Given the description of an element on the screen output the (x, y) to click on. 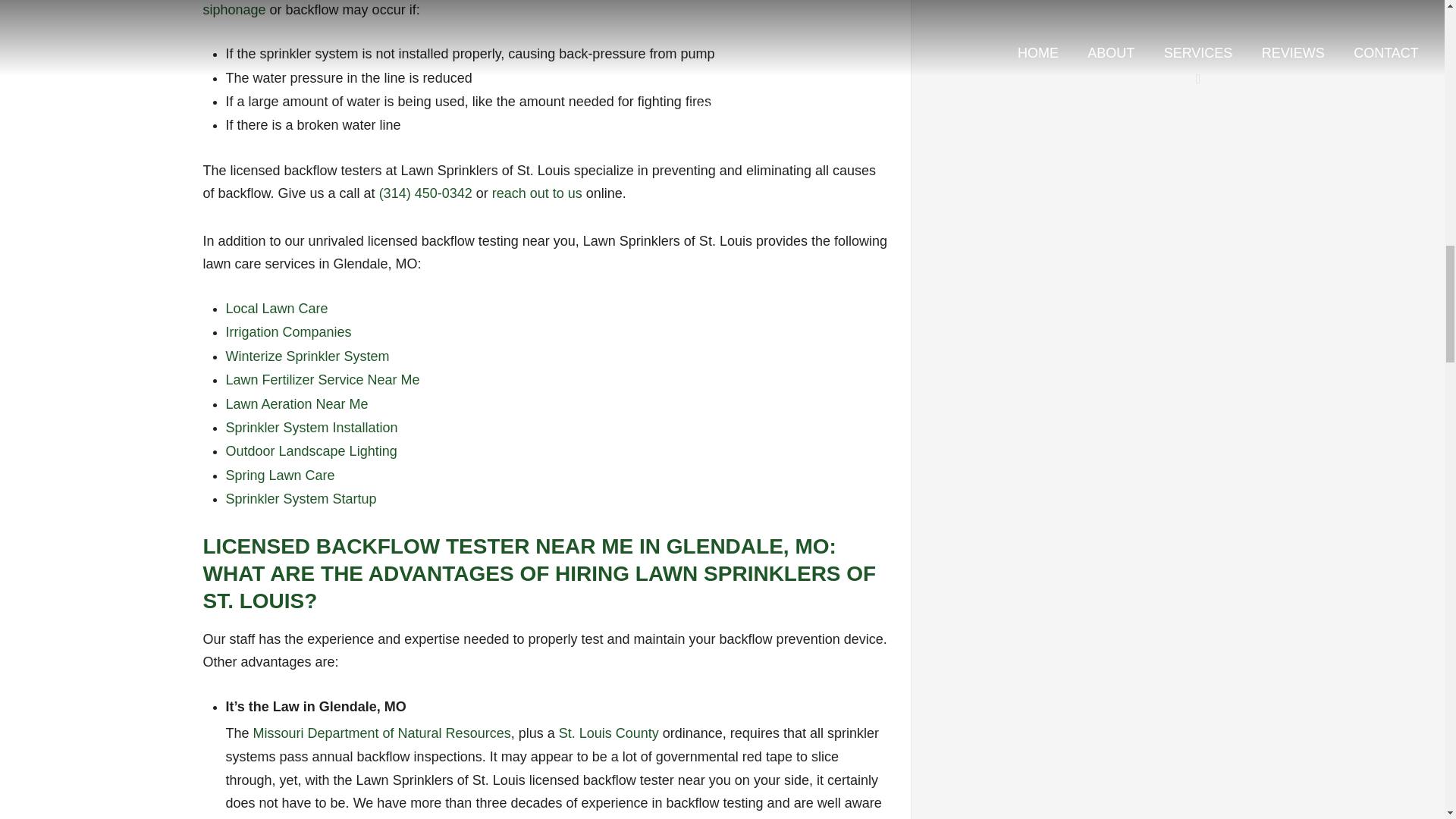
Licensed Backflow Tester Near Me Glendale, MO - mo.gov (382, 733)
back-siphonage (532, 8)
Local Lawn Care (277, 308)
Licensed Backflow Tester Near Me Glendale, MO - mo.gov (609, 733)
Winterize Sprinkler System (307, 355)
reach out to us (537, 192)
Irrigation Companies (288, 331)
